Given the description of an element on the screen output the (x, y) to click on. 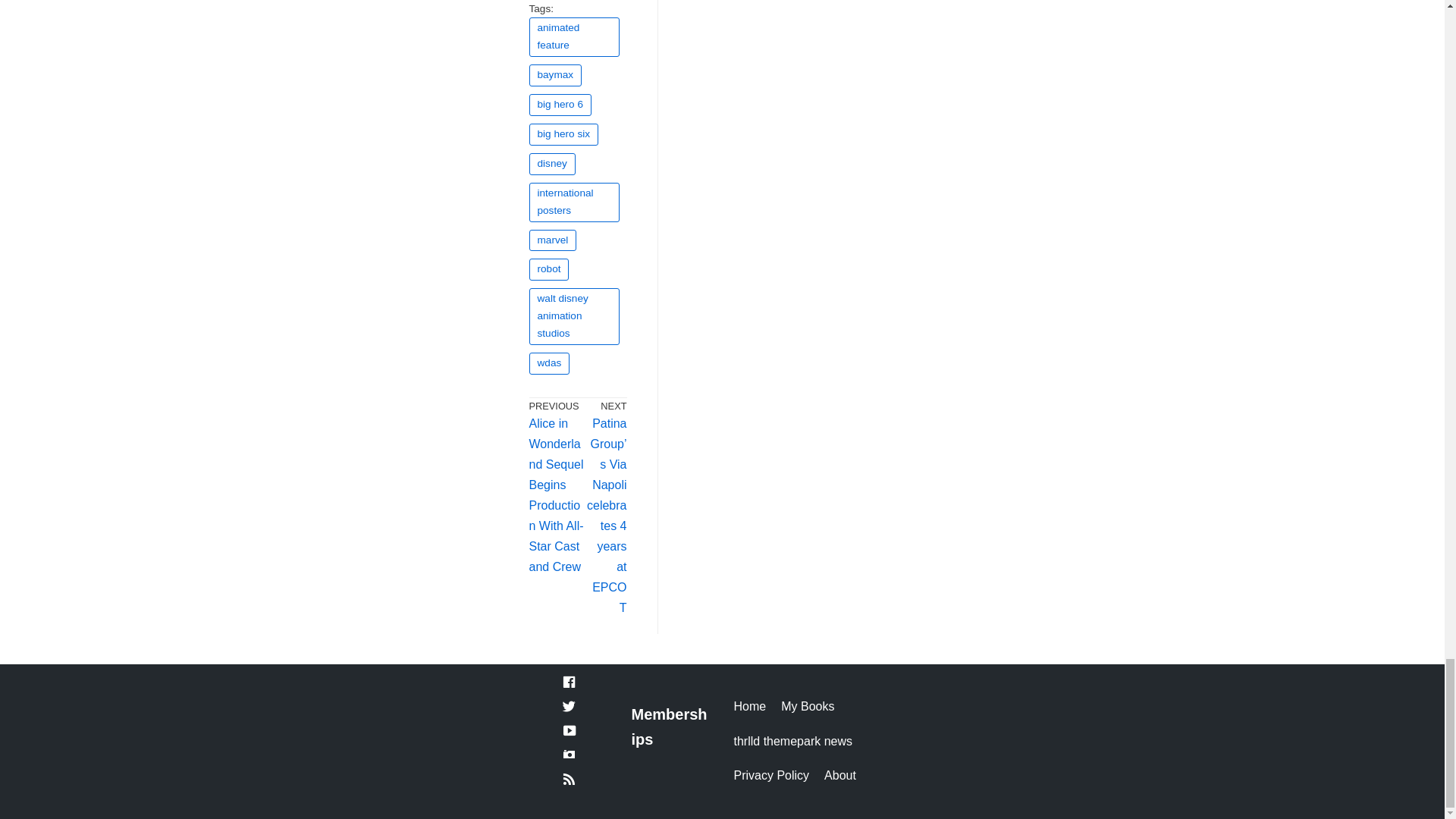
big hero 6 (560, 105)
international posters (574, 201)
marvel (552, 240)
baymax (555, 75)
big hero six (563, 134)
disney (552, 164)
animated feature (574, 36)
